Given the description of an element on the screen output the (x, y) to click on. 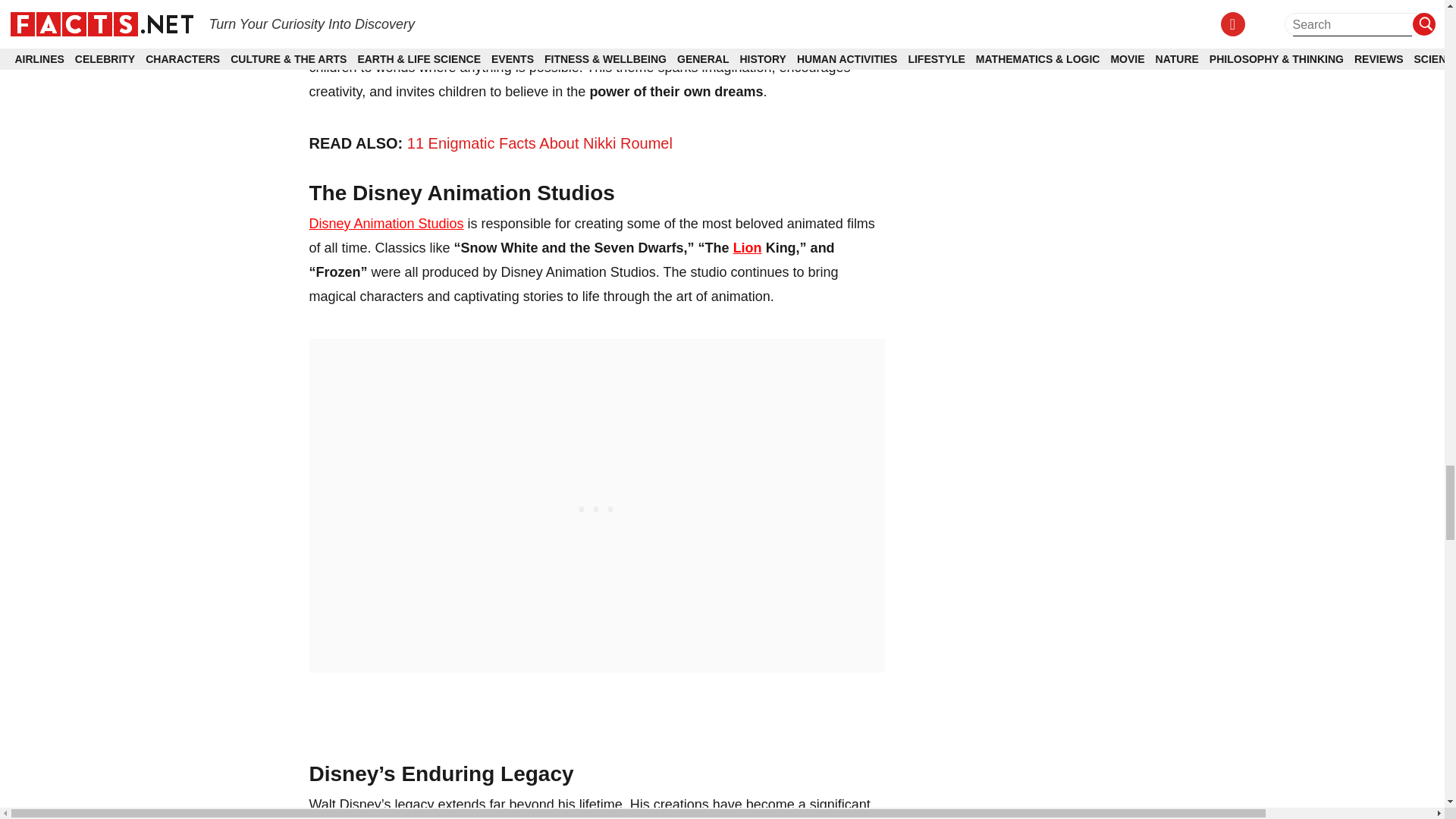
Lion (747, 247)
creations (633, 18)
Disney Animation Studios (386, 223)
